Given the description of an element on the screen output the (x, y) to click on. 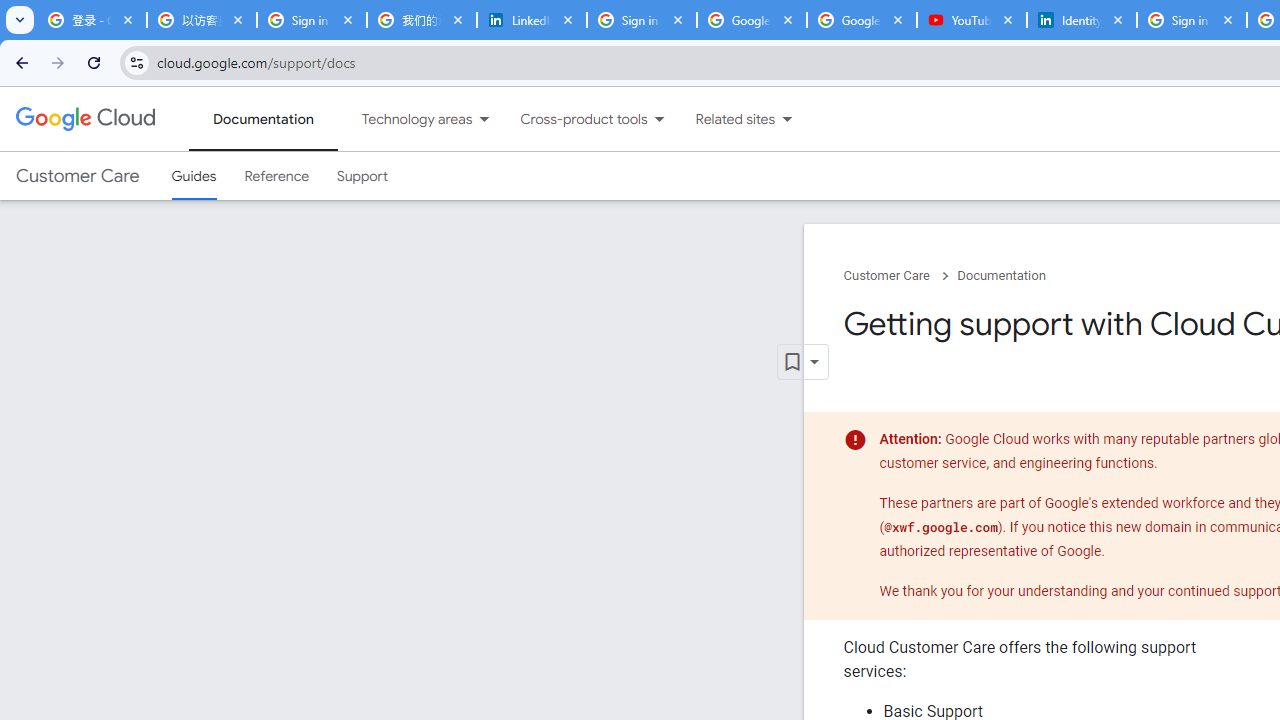
Customer Care (77, 175)
Dropdown menu for Cross-product tools (659, 119)
Sign in - Google Accounts (1191, 20)
Cross-product tools (571, 119)
